Given the description of an element on the screen output the (x, y) to click on. 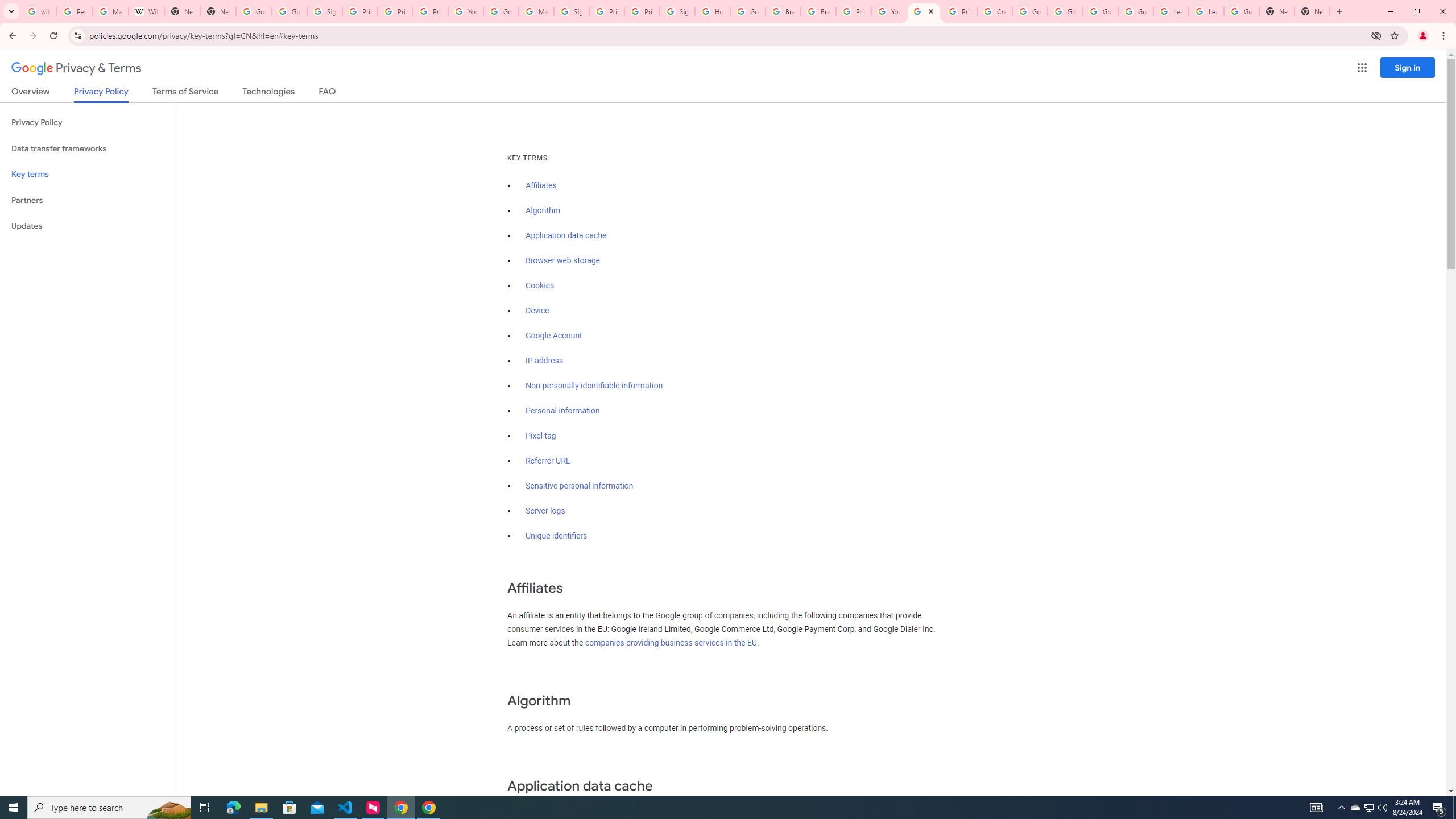
Google Account Help (1064, 11)
Privacy & Terms (76, 68)
Referrer URL (547, 461)
Third-party cookies blocked (1376, 35)
IP address (544, 361)
Terms of Service (184, 93)
Server logs (544, 511)
Technologies (268, 93)
